Given the description of an element on the screen output the (x, y) to click on. 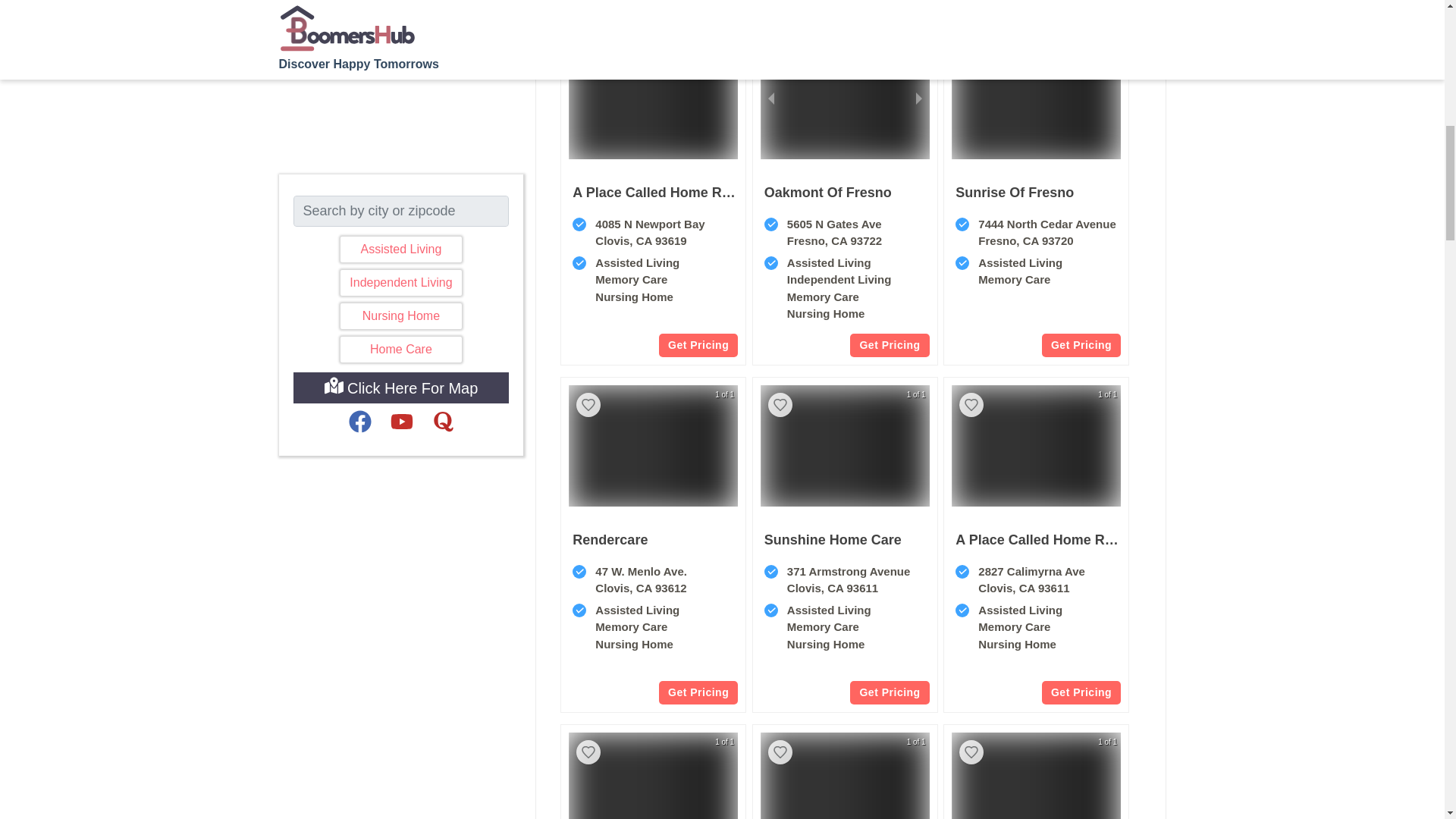
Get Pricing (1081, 345)
Rendercare,Clovis,CA (609, 539)
Get Pricing (1081, 692)
Get Pricing (889, 692)
Sunrise Of Fresno,Fresno,CA (1036, 269)
Oakmont Of Fresno,Fresno,CA (827, 192)
